Given the description of an element on the screen output the (x, y) to click on. 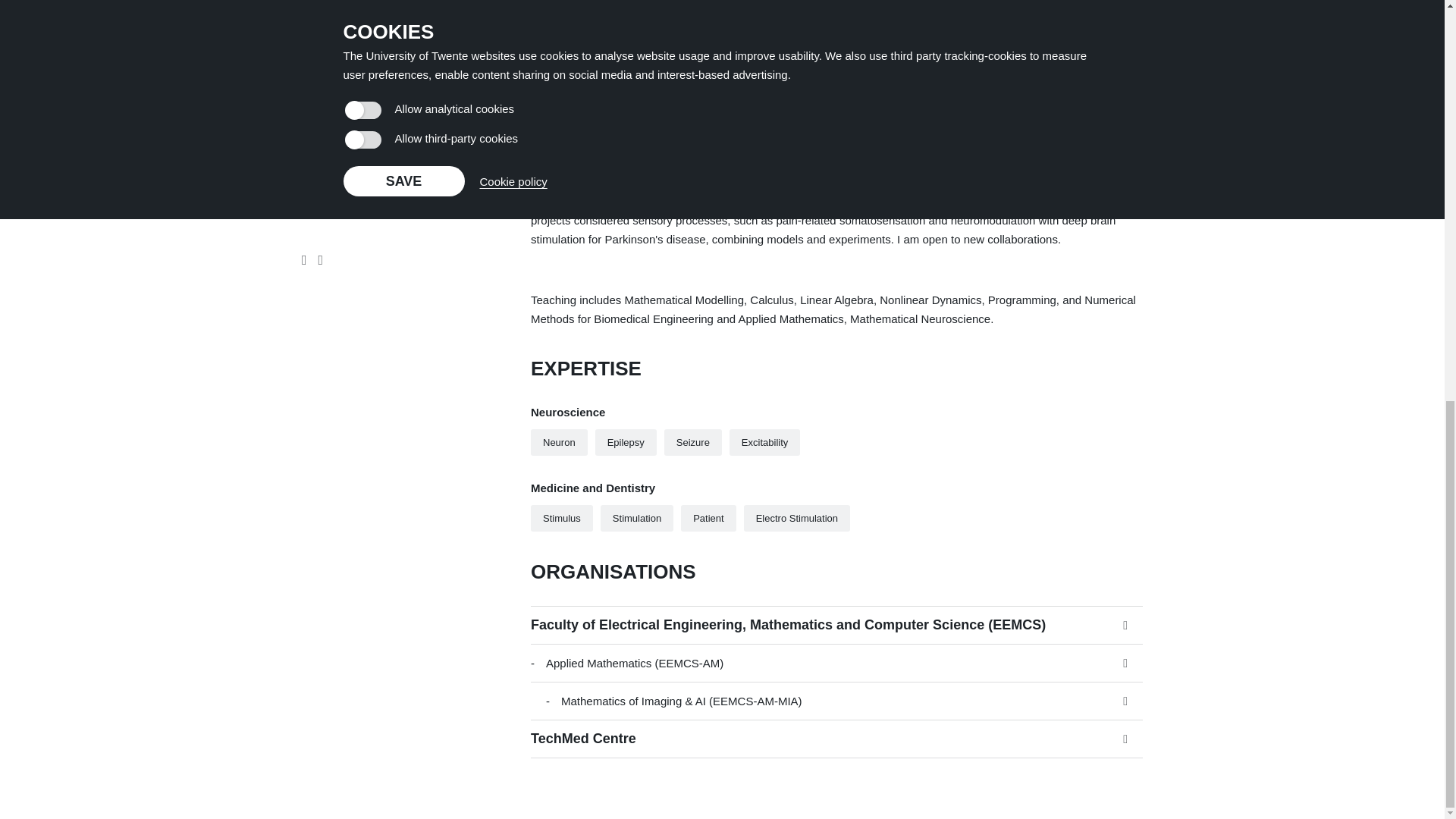
MatCont (564, 60)
TechMed Centre (836, 739)
